Given the description of an element on the screen output the (x, y) to click on. 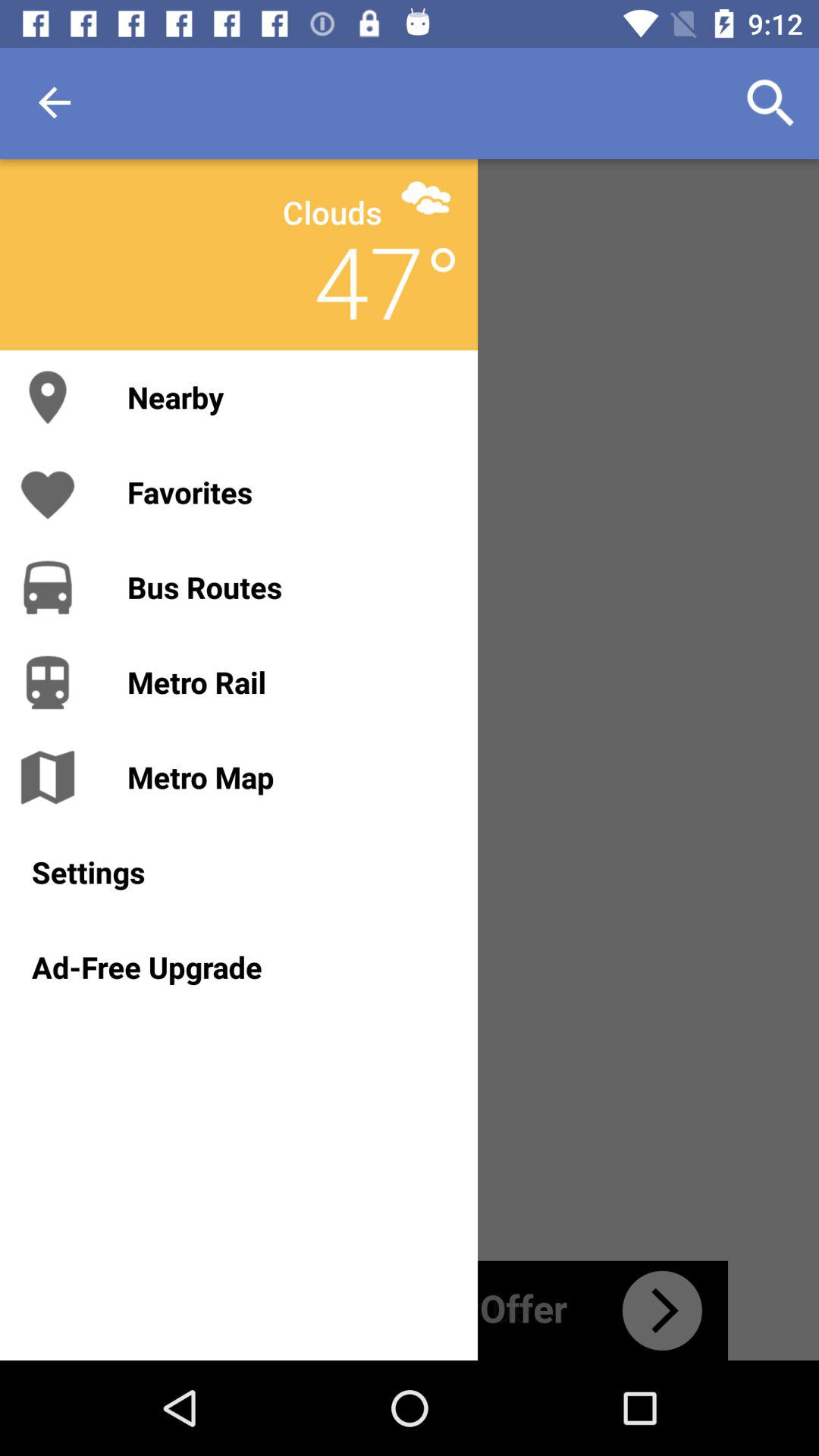
swipe to bus routes (286, 587)
